Given the description of an element on the screen output the (x, y) to click on. 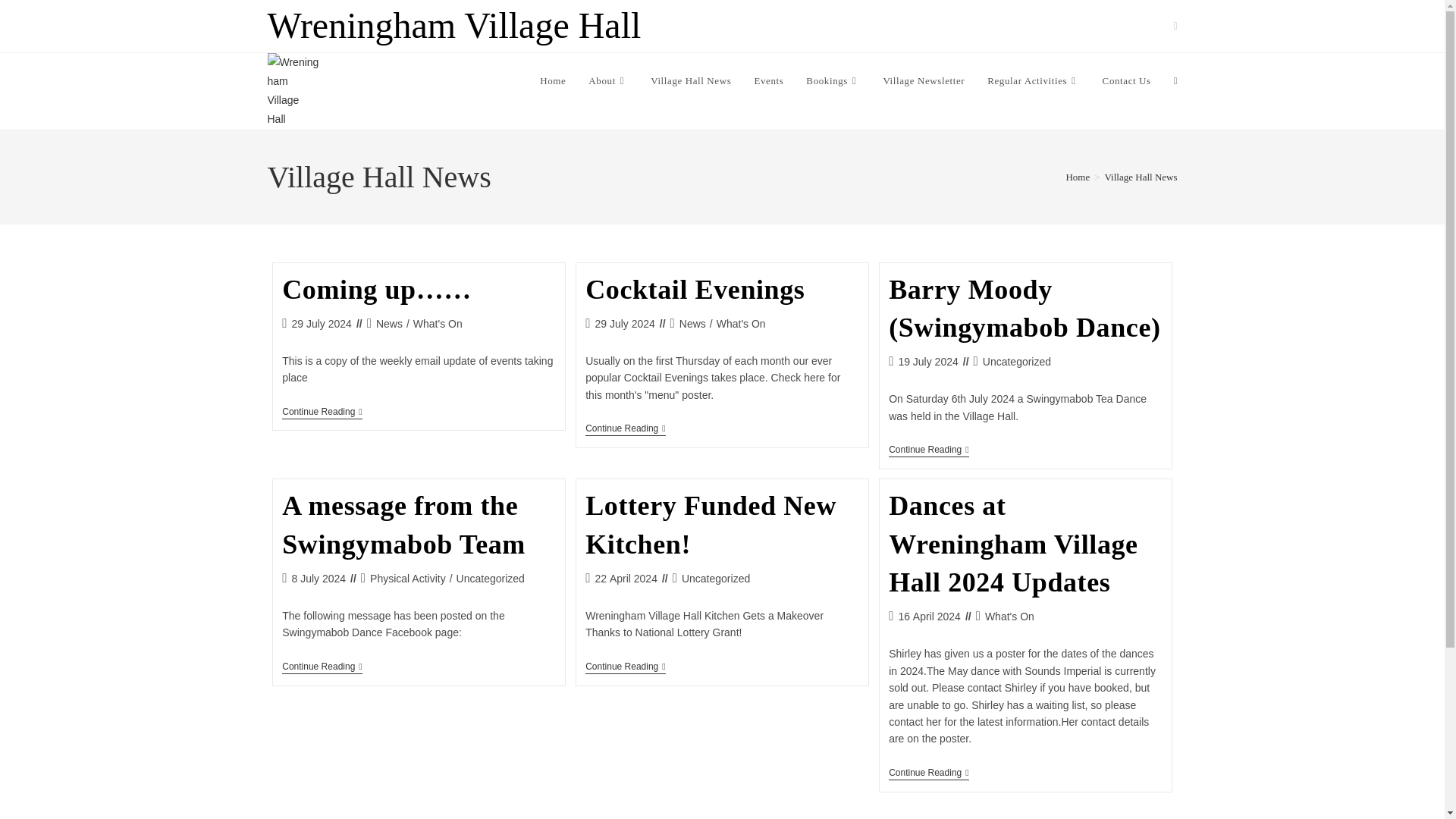
Contact Us (1125, 80)
Village Hall News (690, 80)
Village Newsletter (922, 80)
Bookings (832, 80)
Events (768, 80)
About (607, 80)
Regular Activities (1032, 80)
